Given the description of an element on the screen output the (x, y) to click on. 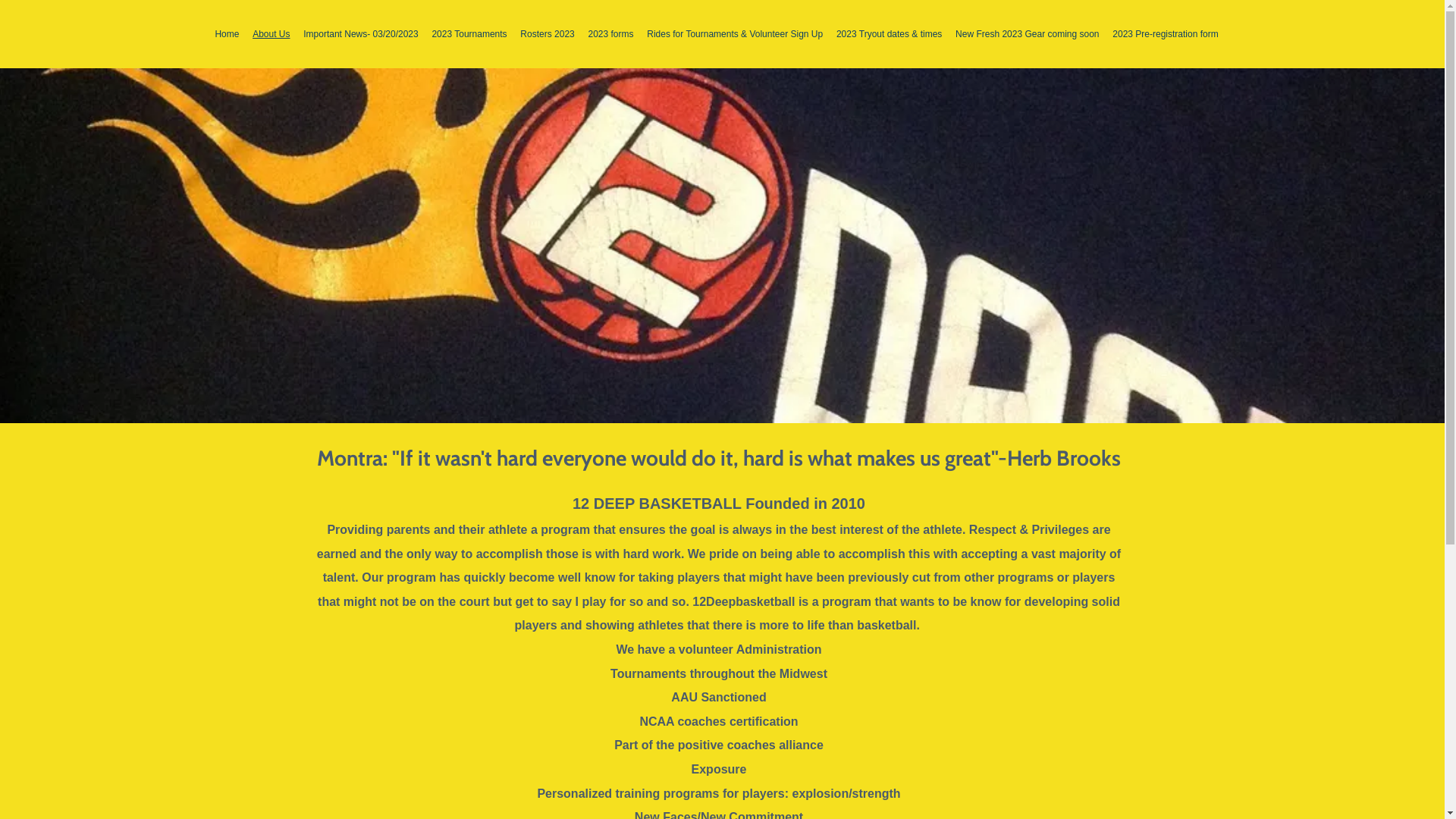
2023 Tournaments Element type: text (469, 34)
2023 Pre-registration form Element type: text (1164, 34)
New Fresh 2023 Gear coming soon Element type: text (1026, 34)
Rides for Tournaments & Volunteer Sign Up Element type: text (734, 34)
2023 Tryout dates & times Element type: text (888, 34)
2023 forms Element type: text (610, 34)
Home Element type: text (226, 34)
About Us Element type: text (270, 34)
Rosters 2023 Element type: text (546, 34)
Important News- 03/20/2023 Element type: text (360, 34)
